Given the description of an element on the screen output the (x, y) to click on. 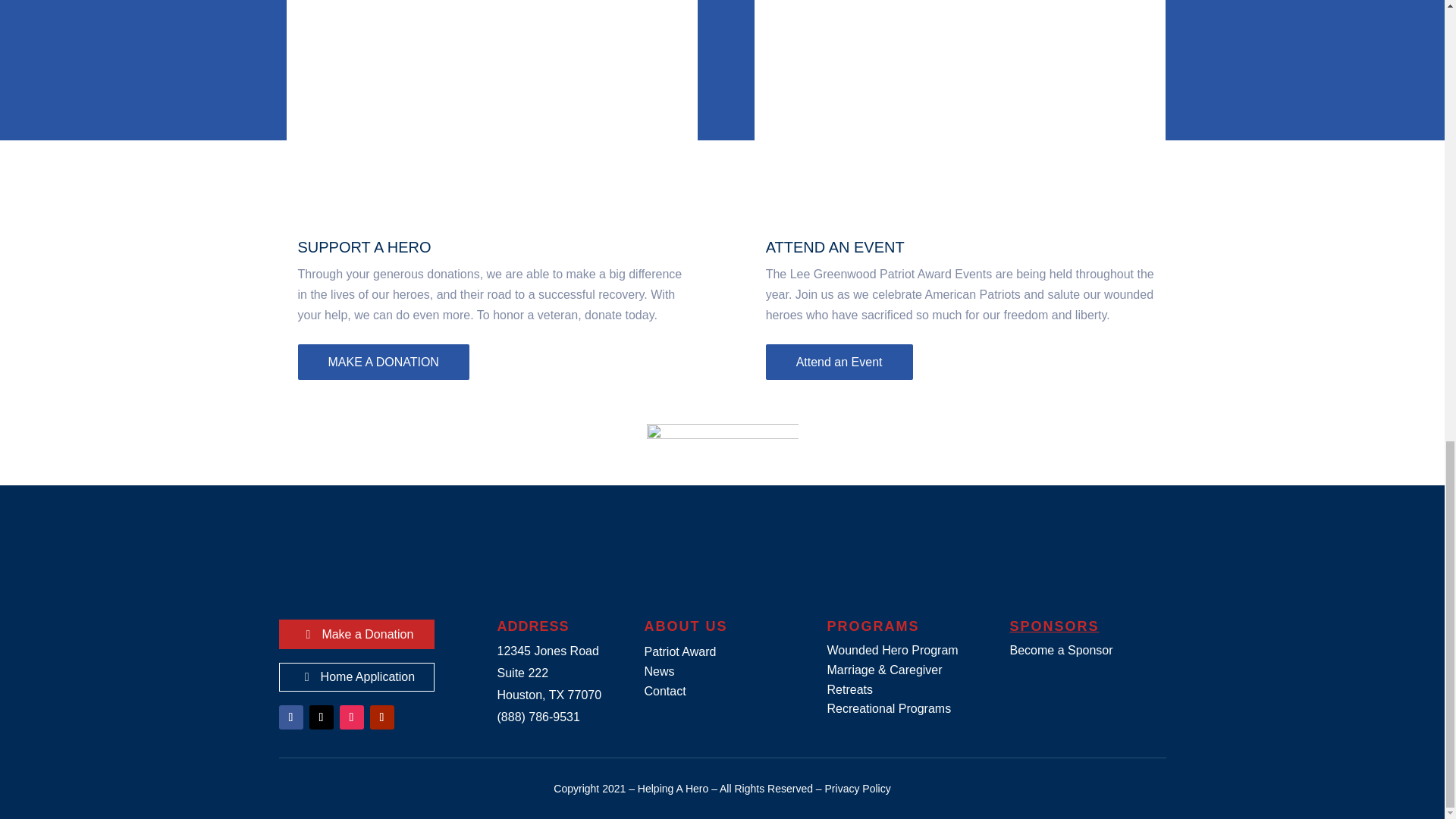
MAKE A DONATION (382, 361)
Untitled-49988 (721, 499)
Follow on Facebook (290, 717)
Follow on X (320, 717)
Follow on Youtube (381, 717)
Follow on Instagram (351, 717)
